Given the description of an element on the screen output the (x, y) to click on. 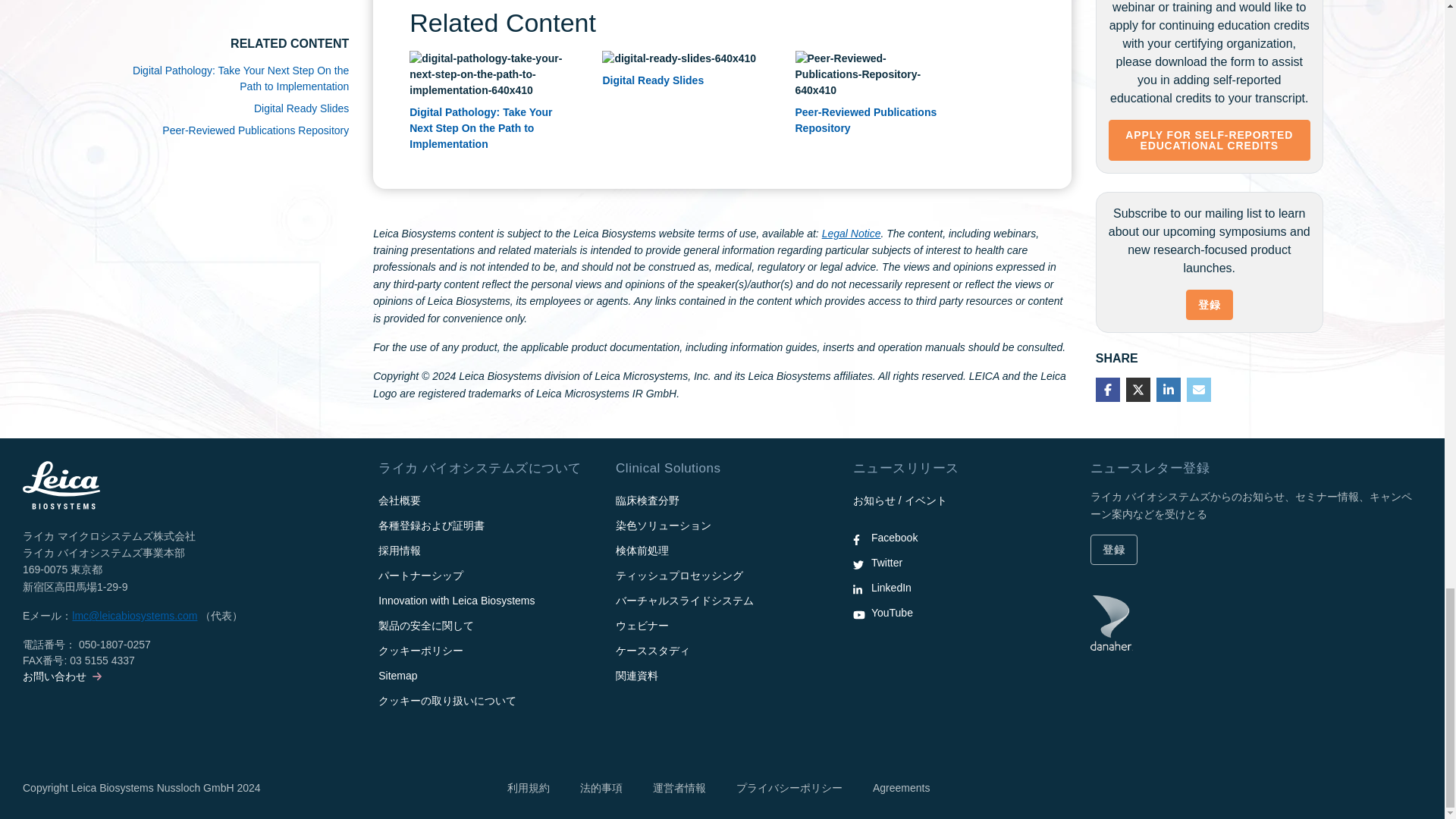
Sitemap (397, 675)
digital-ready-slides-640x410 (678, 58)
Peer-Reviewed-Publications-Repository-640x410 (872, 74)
